Given the description of an element on the screen output the (x, y) to click on. 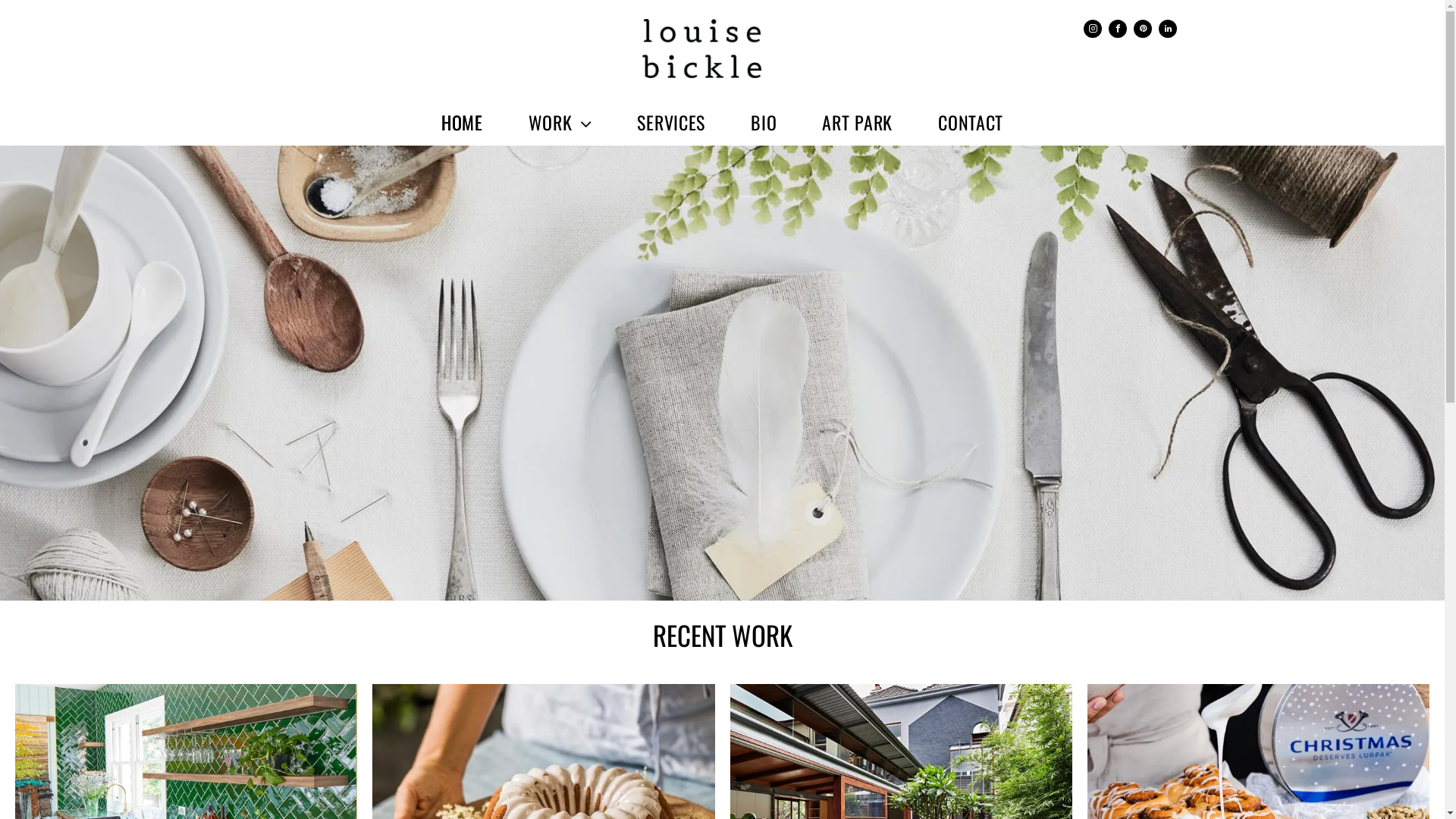
BIO Element type: text (763, 121)
SERVICES Element type: text (671, 121)
HOME Element type: text (461, 121)
ART PARK Element type: text (857, 121)
WORK Element type: text (560, 121)
CONTACT Element type: text (970, 121)
